Given the description of an element on the screen output the (x, y) to click on. 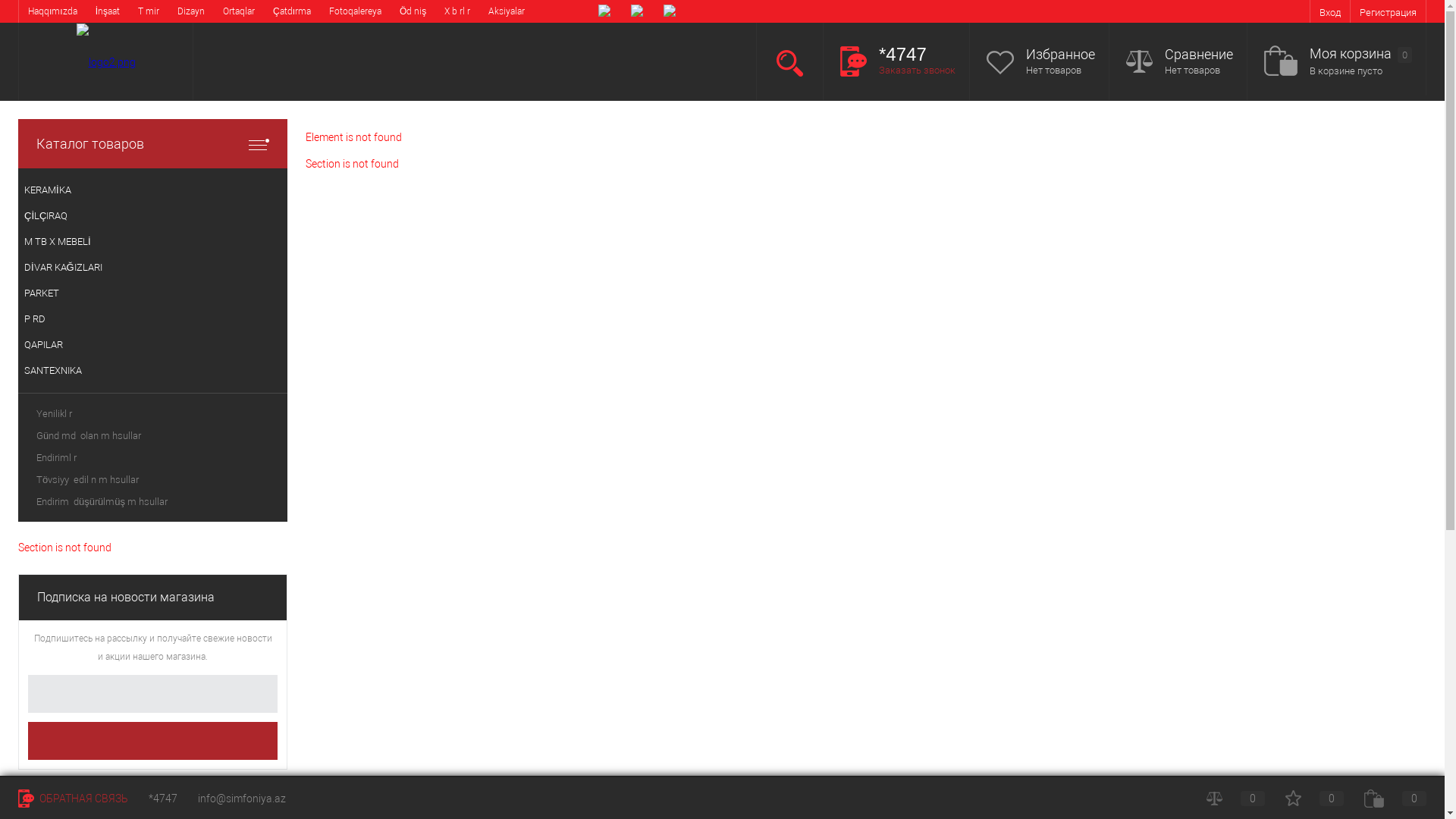
0 Element type: text (1395, 798)
Aksiyalar Element type: text (506, 11)
*4747 Element type: text (162, 798)
info@simfoniya.az Element type: text (241, 798)
Dizayn Element type: text (190, 11)
7baddd90273558a8d9125d75bb090061.jpg Element type: hover (151, 796)
SANTEXNIKA Element type: text (152, 370)
Fotoqalereya Element type: text (355, 11)
Ortaqlar Element type: text (238, 11)
0 Element type: text (1235, 798)
PARKET Element type: text (152, 293)
QAPILAR Element type: text (152, 344)
0 Element type: text (1314, 798)
logo2.png Element type: hover (104, 61)
